Given the description of an element on the screen output the (x, y) to click on. 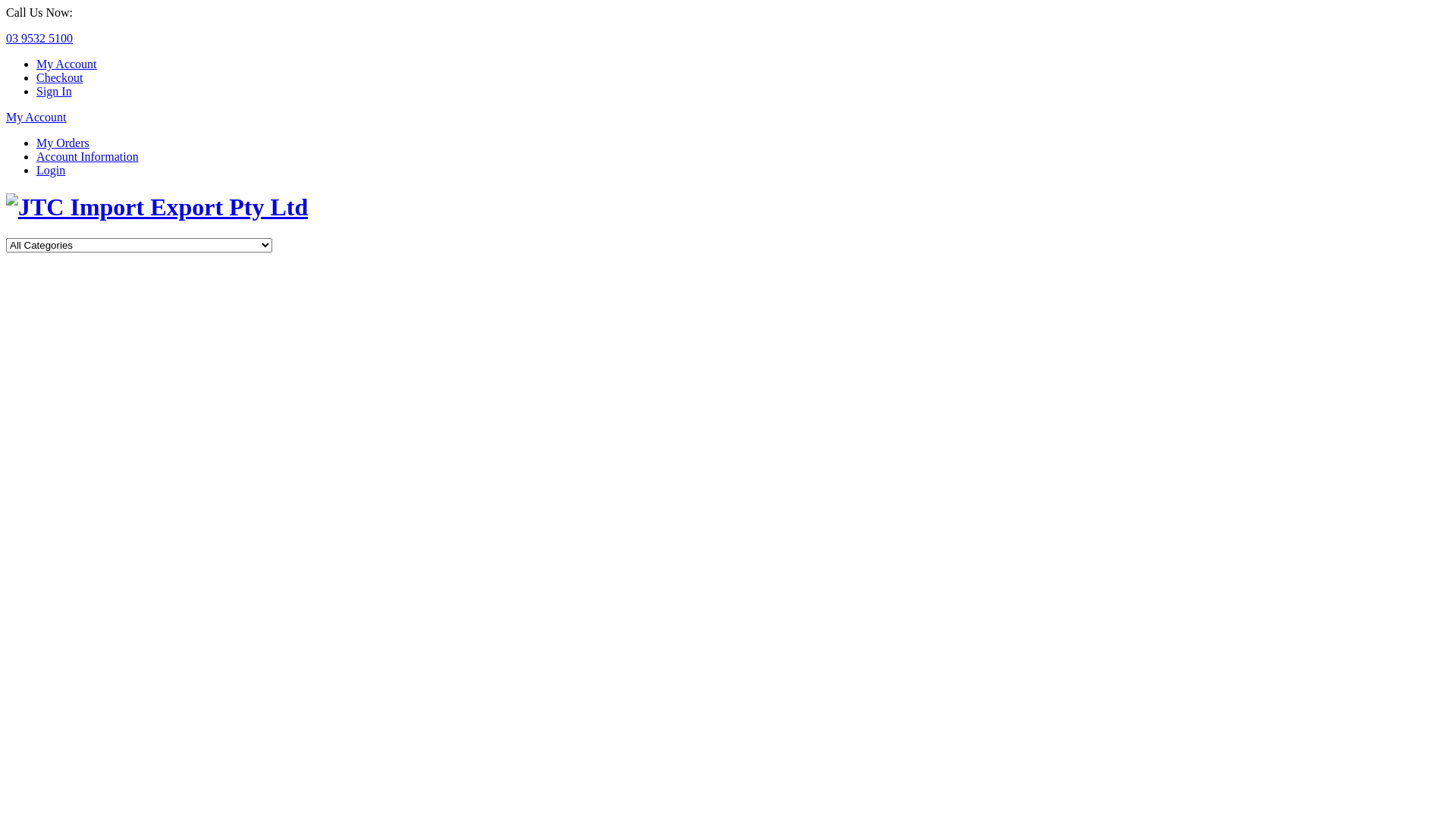
Checkout Element type: text (59, 77)
Sign In Element type: text (54, 90)
Account Information Element type: text (87, 156)
My Account Element type: text (36, 116)
Login Element type: text (50, 169)
03 9532 5100 Element type: text (39, 37)
JTC Import Export Pty Ltd Element type: hover (156, 206)
My Orders Element type: text (62, 142)
My Account Element type: text (66, 63)
